Given the description of an element on the screen output the (x, y) to click on. 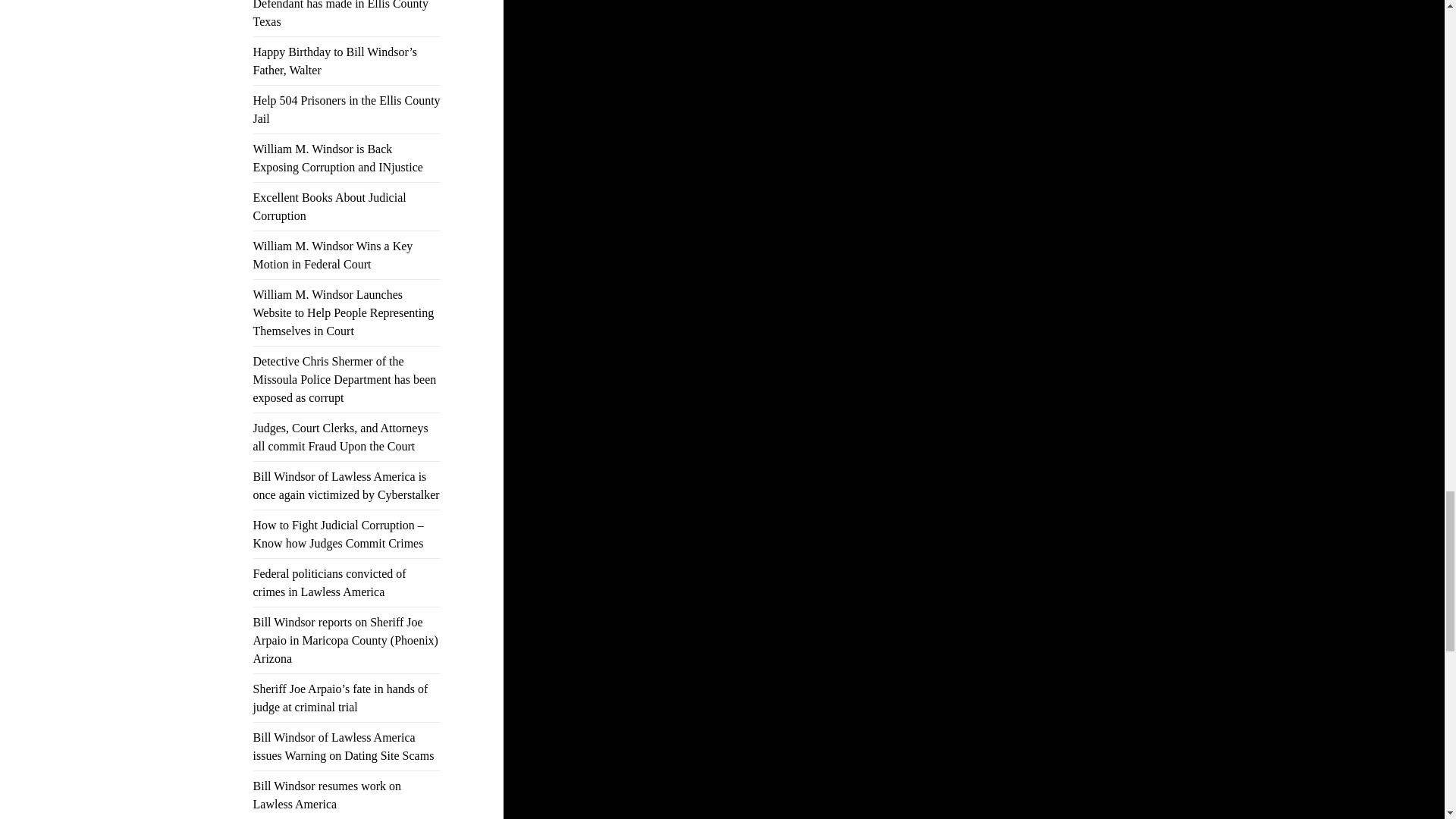
William M. Windsor is Back Exposing Corruption and INjustice (338, 157)
Help 504 Prisoners in the Ellis County Jail (347, 109)
